Given the description of an element on the screen output the (x, y) to click on. 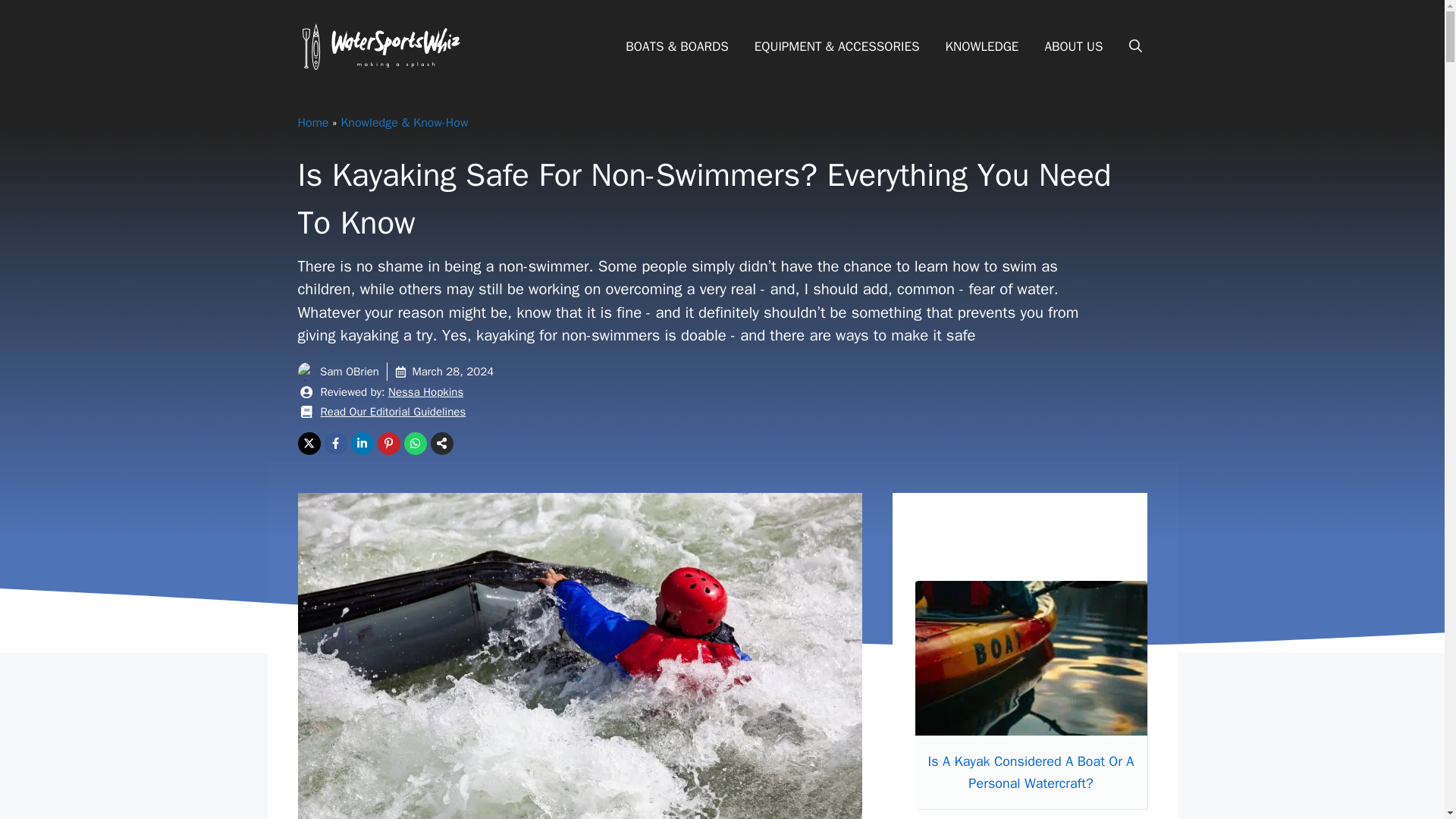
Nessa Hopkins (425, 391)
Sam OBrien (349, 371)
ABOUT US (1072, 46)
Read Our Editorial Guidelines (392, 411)
KNOWLEDGE (982, 46)
Home (313, 122)
